Given the description of an element on the screen output the (x, y) to click on. 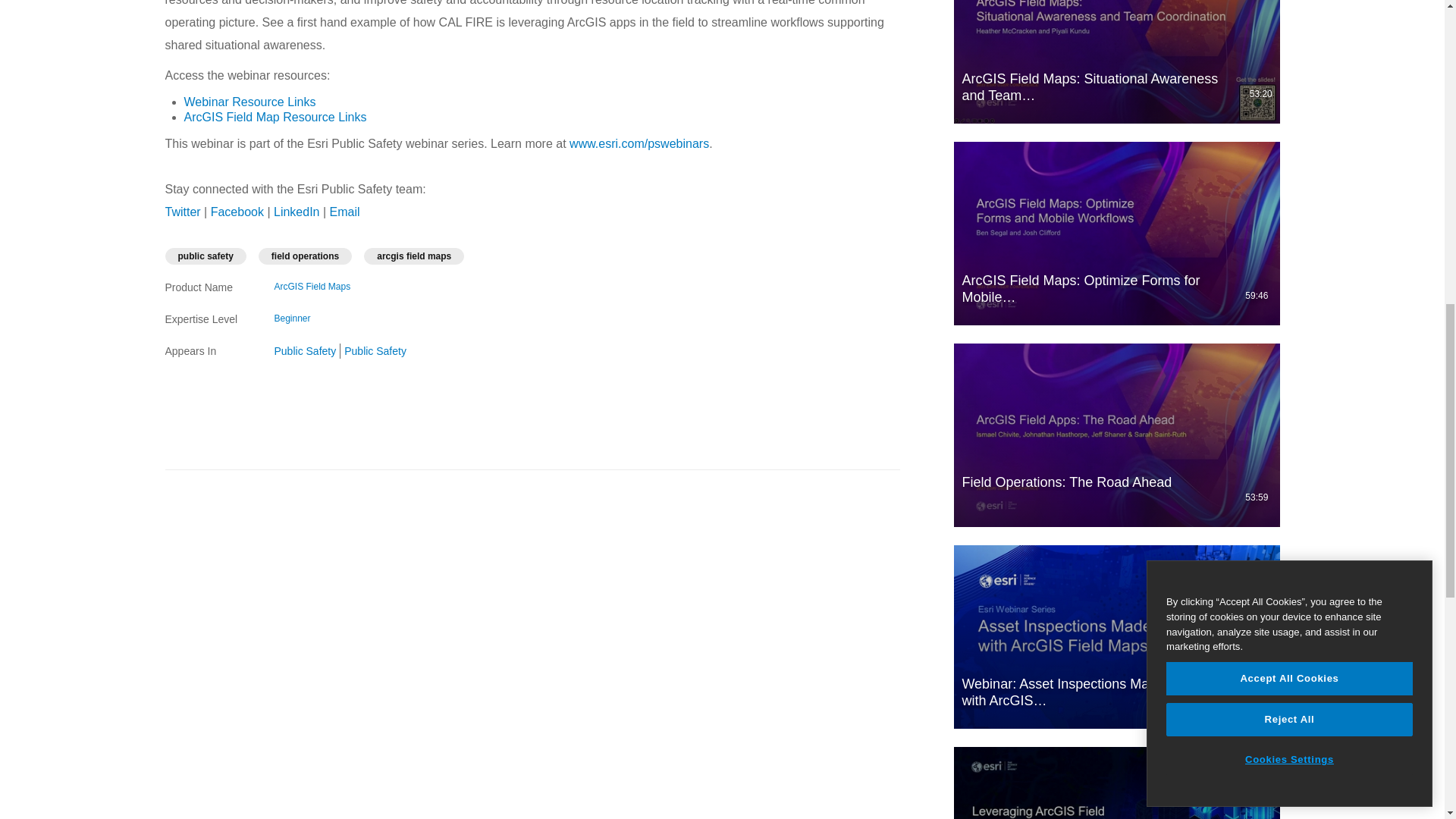
Webinar: Asset Inspections Made Easy with ArcGIS Field Maps (1116, 636)
Expertise Level (210, 319)
ArcGIS Field Maps: Optimize Forms for Mobile Workflows (1116, 233)
Product Name (210, 287)
Field Operations: The Road Ahead (1116, 435)
Appears In (210, 350)
